Given the description of an element on the screen output the (x, y) to click on. 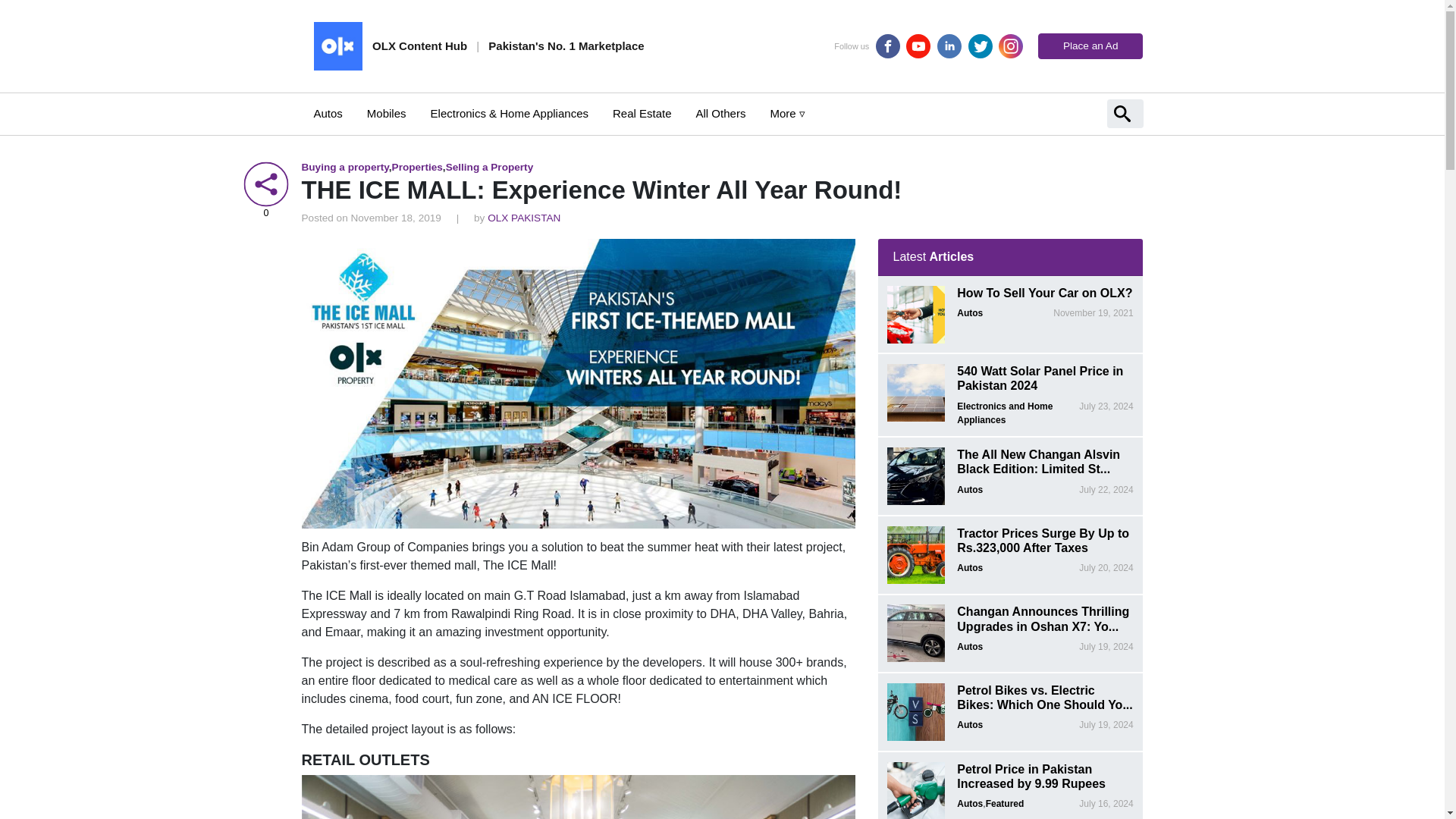
share2 (265, 183)
All Others (721, 113)
Properties (416, 165)
Selling a Property (489, 165)
OLX PAKISTAN (523, 217)
Buying a property (344, 165)
Autos (328, 113)
Mobiles (387, 113)
Real Estate (641, 113)
Place an Ad (1090, 45)
